Given the description of an element on the screen output the (x, y) to click on. 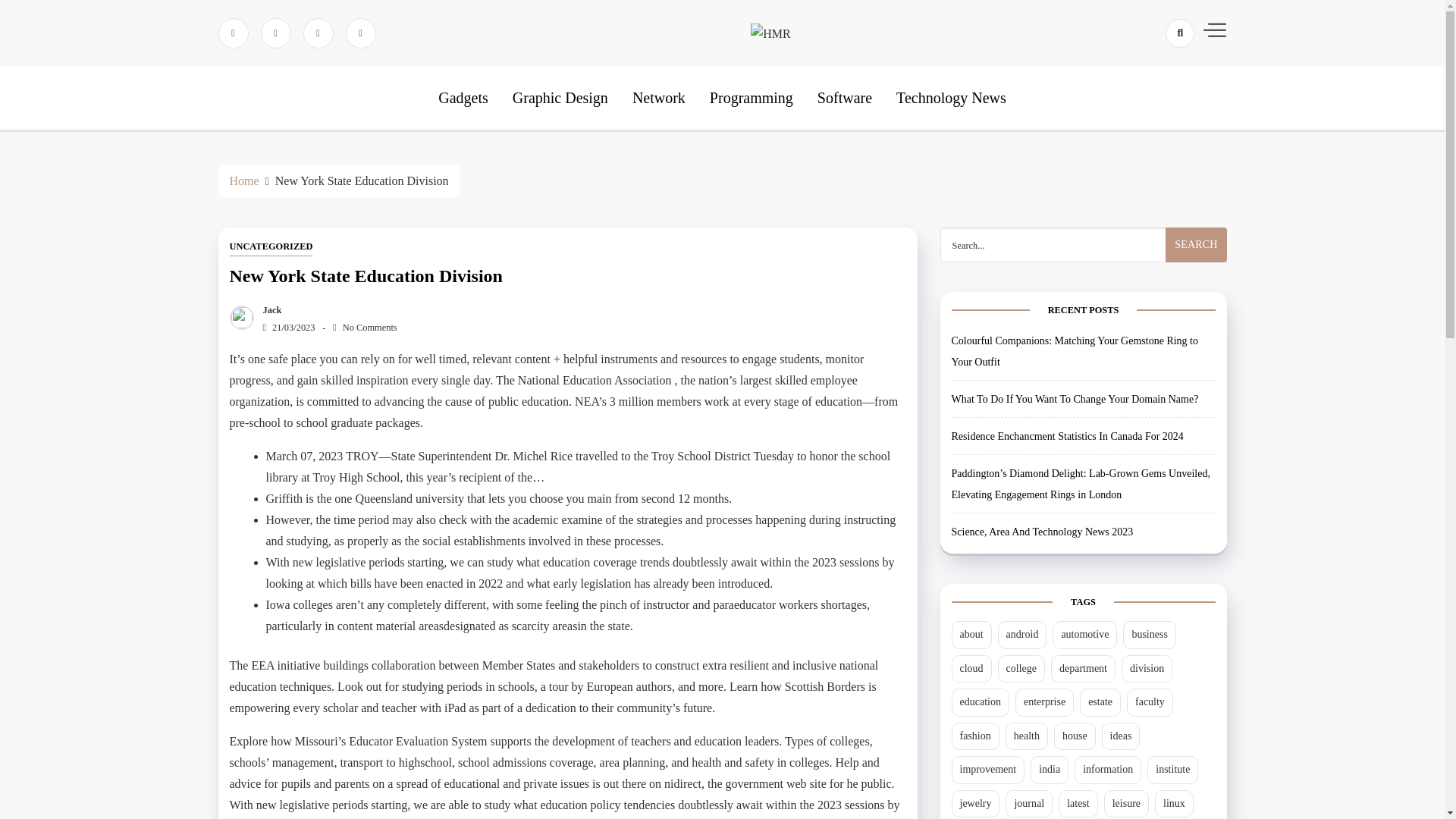
Search (1152, 86)
Home (243, 180)
Jack (268, 309)
Graphic Design (560, 97)
Programming (751, 97)
Search (1195, 244)
HMR (802, 81)
No Comments (364, 327)
UNCATEGORIZED (270, 247)
